Given the description of an element on the screen output the (x, y) to click on. 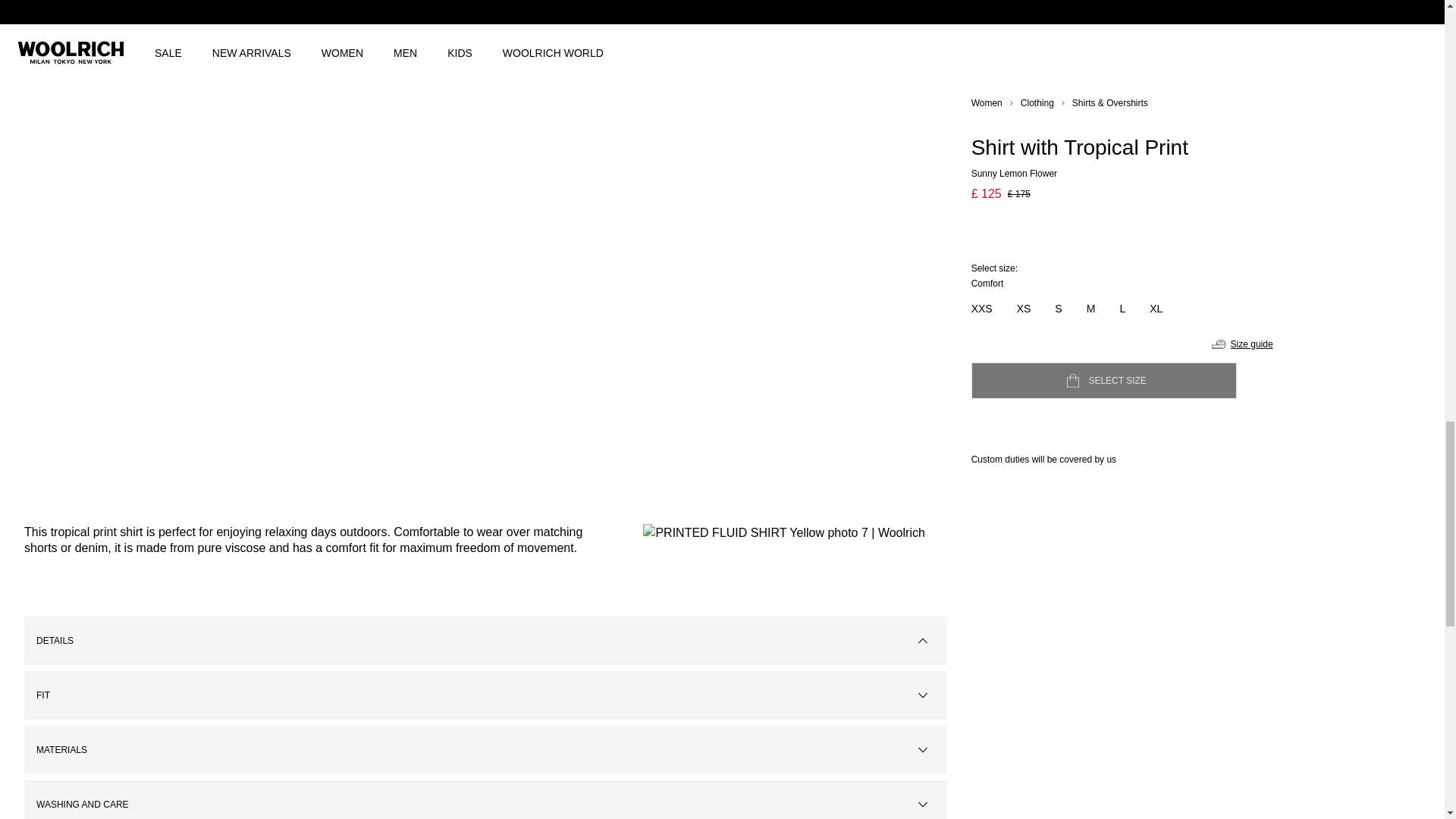
DETAILS (485, 640)
MATERIALS (485, 749)
WASHING AND CARE (485, 799)
FIT (485, 694)
